Given the description of an element on the screen output the (x, y) to click on. 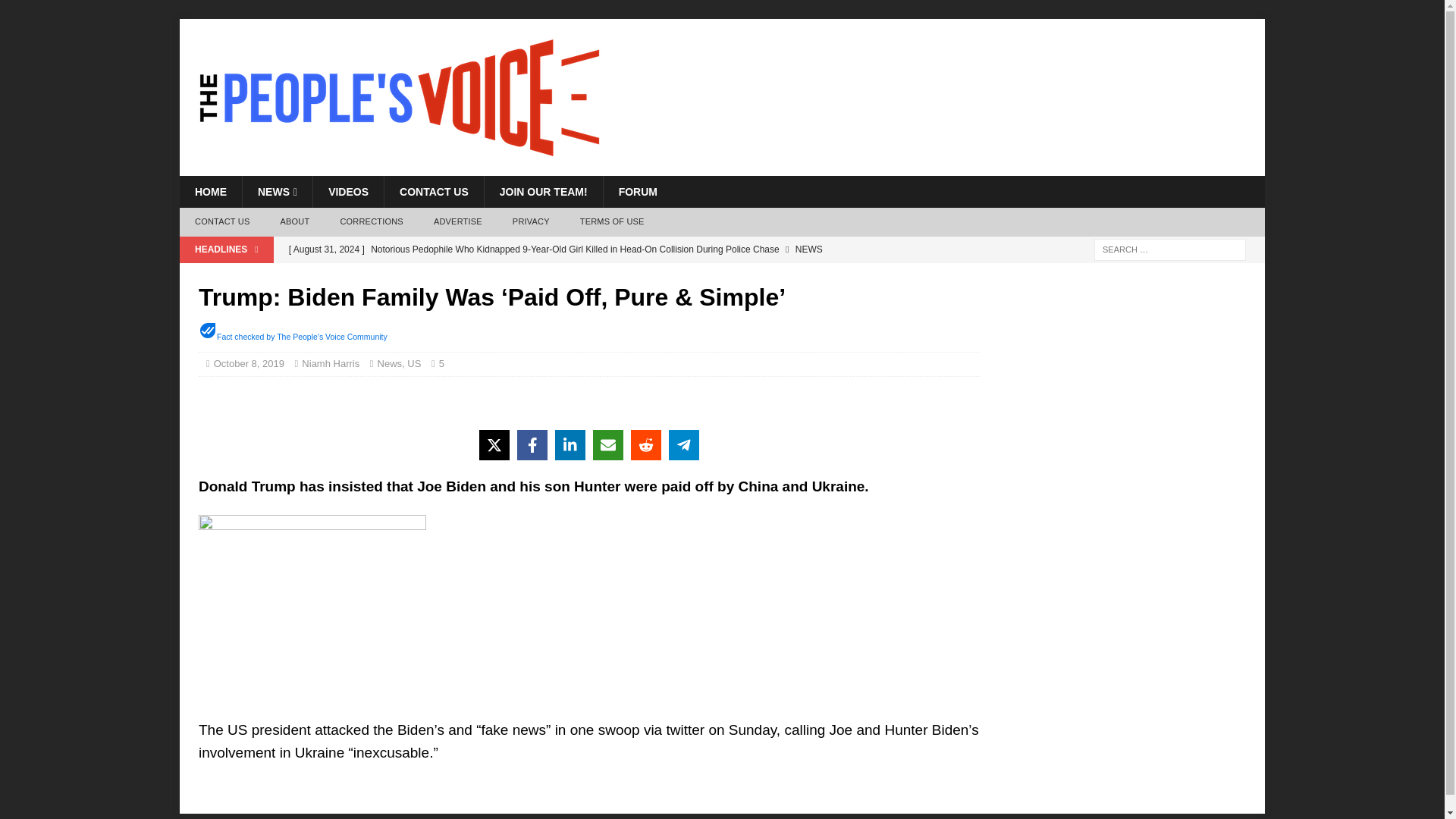
HOME (210, 192)
NEWS (277, 192)
TERMS OF USE (611, 222)
CORRECTIONS (370, 222)
News (390, 363)
CONTACT US (433, 192)
FORUM (637, 192)
US (413, 363)
October 8, 2019 (248, 363)
